Given the description of an element on the screen output the (x, y) to click on. 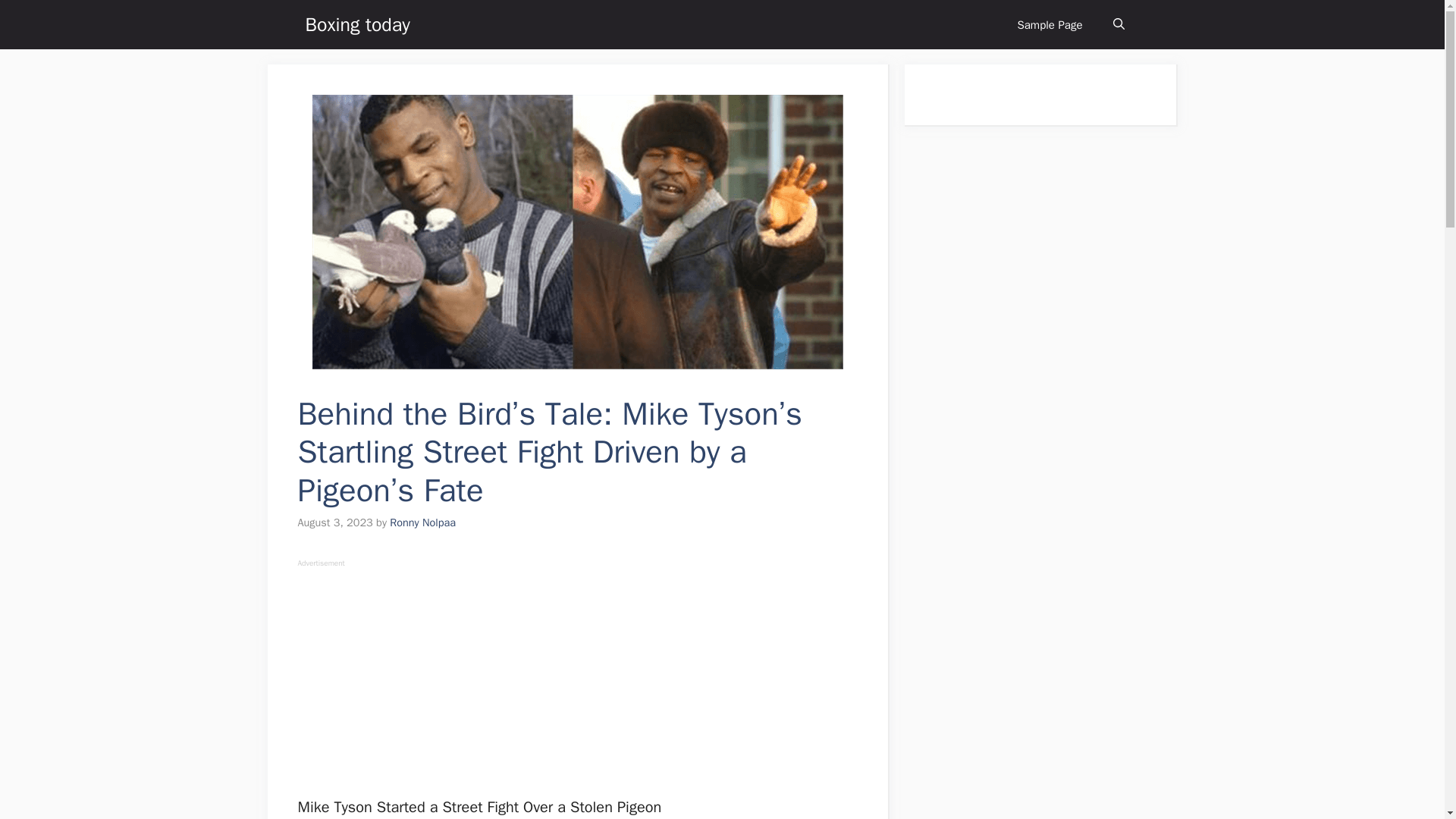
View all posts by Ronny Nolpaa (422, 522)
Sample Page (1050, 23)
Ronny Nolpaa (422, 522)
Boxing today (356, 24)
